Given the description of an element on the screen output the (x, y) to click on. 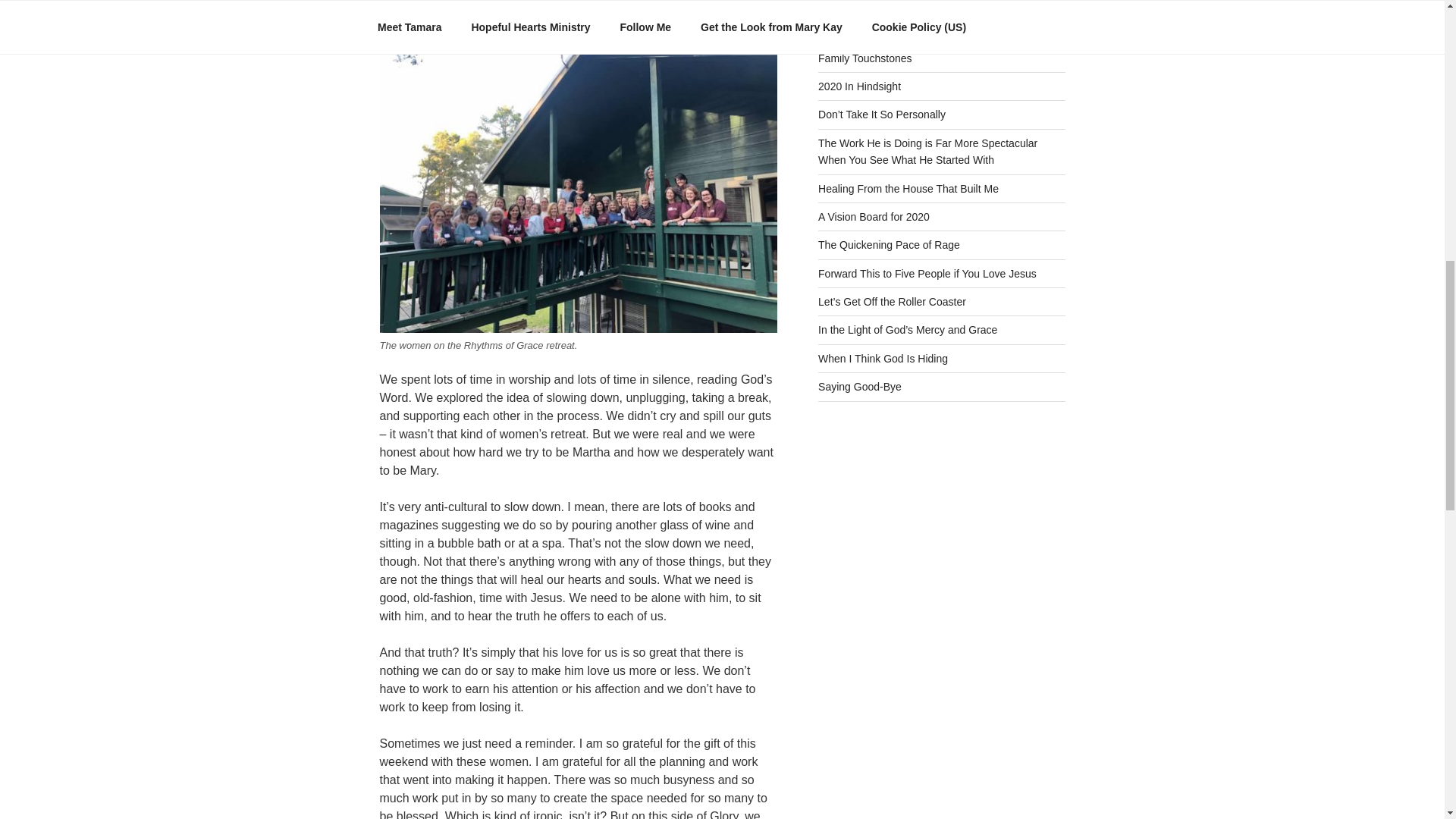
The Quickening Pace of Rage (888, 244)
I Love a Good Book (865, 29)
Family Touchstones (864, 58)
When I Think God Is Hiding (882, 358)
Healing From the House That Built Me (908, 187)
Thank You, For Giving to the Lord (897, 3)
A Vision Board for 2020 (874, 216)
Forward This to Five People if You Love Jesus (927, 273)
2020 In Hindsight (859, 86)
